Given the description of an element on the screen output the (x, y) to click on. 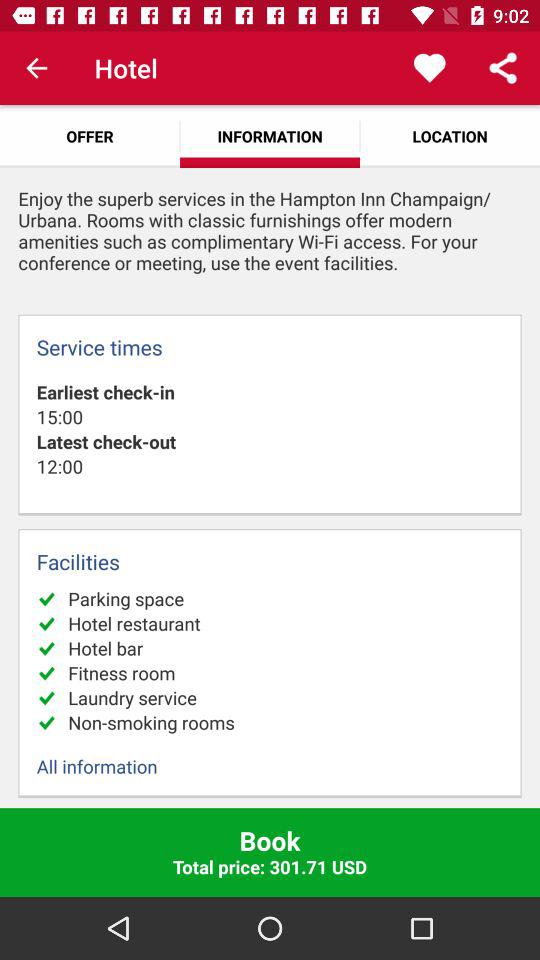
tap the app above location icon (429, 67)
